Given the description of an element on the screen output the (x, y) to click on. 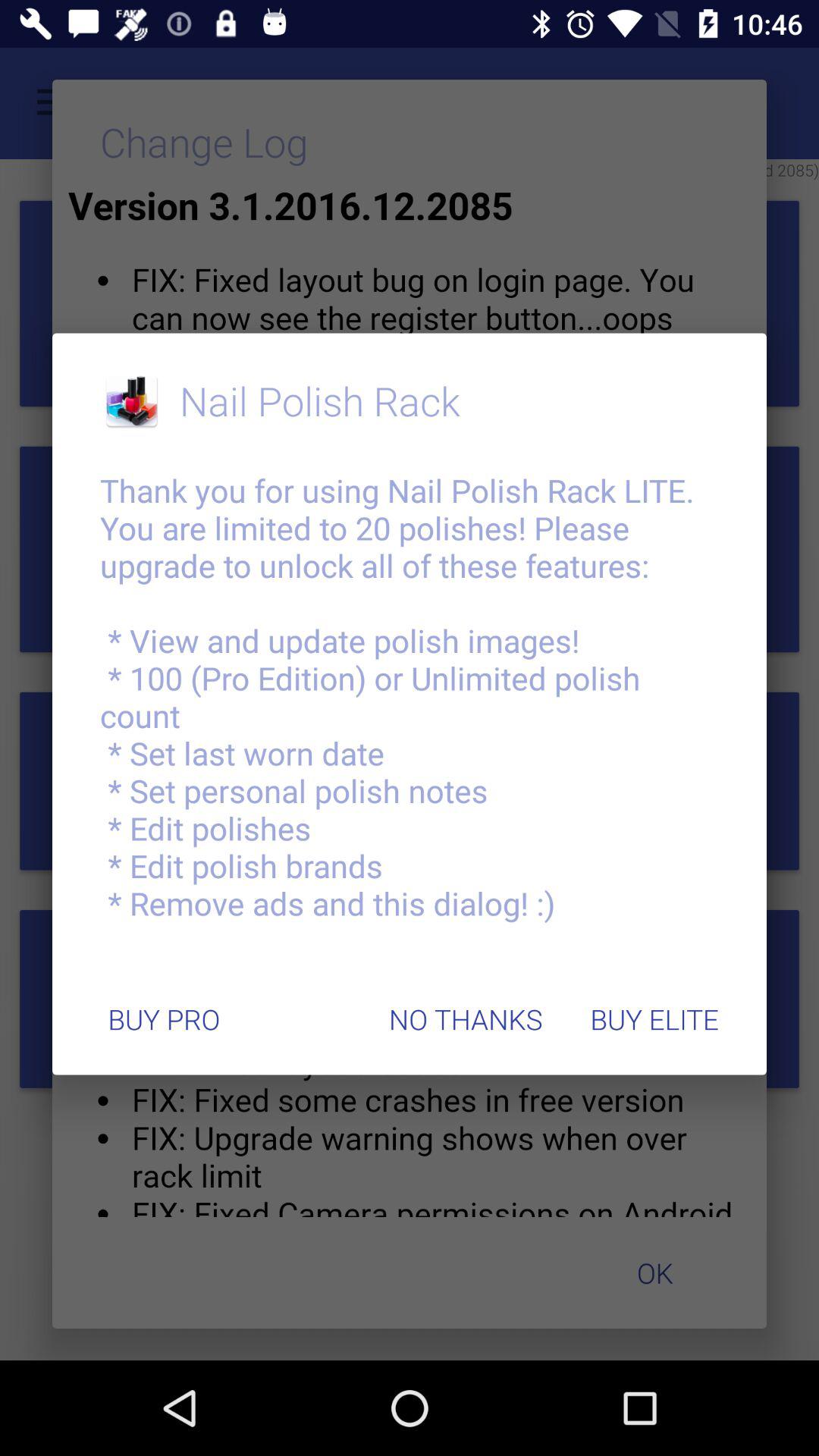
turn on the buy pro at the bottom left corner (163, 1018)
